Given the description of an element on the screen output the (x, y) to click on. 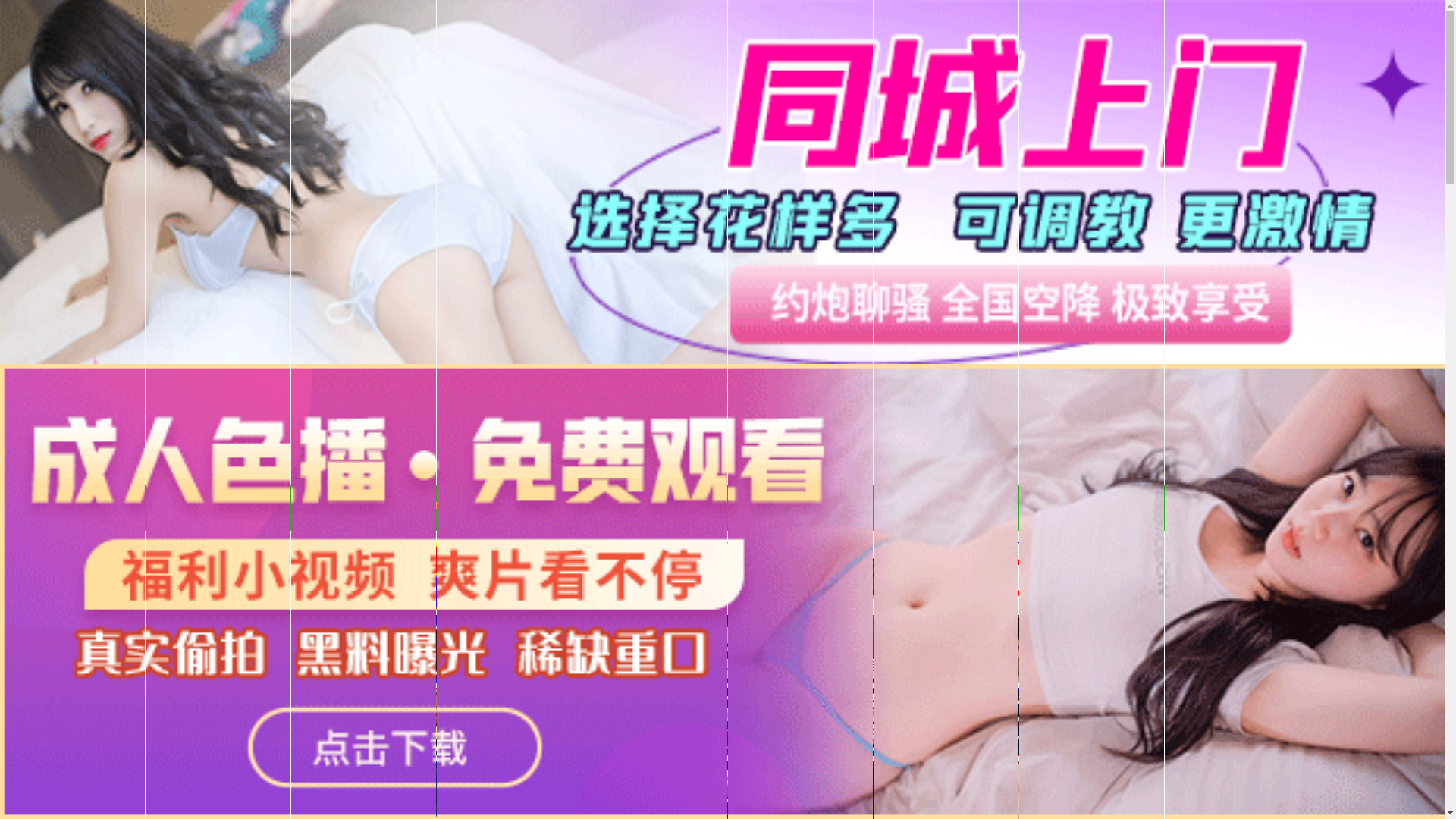
360sckj.Com Element type: text (411, 503)
www.xmkk5.com Element type: text (693, 515)
